Given the description of an element on the screen output the (x, y) to click on. 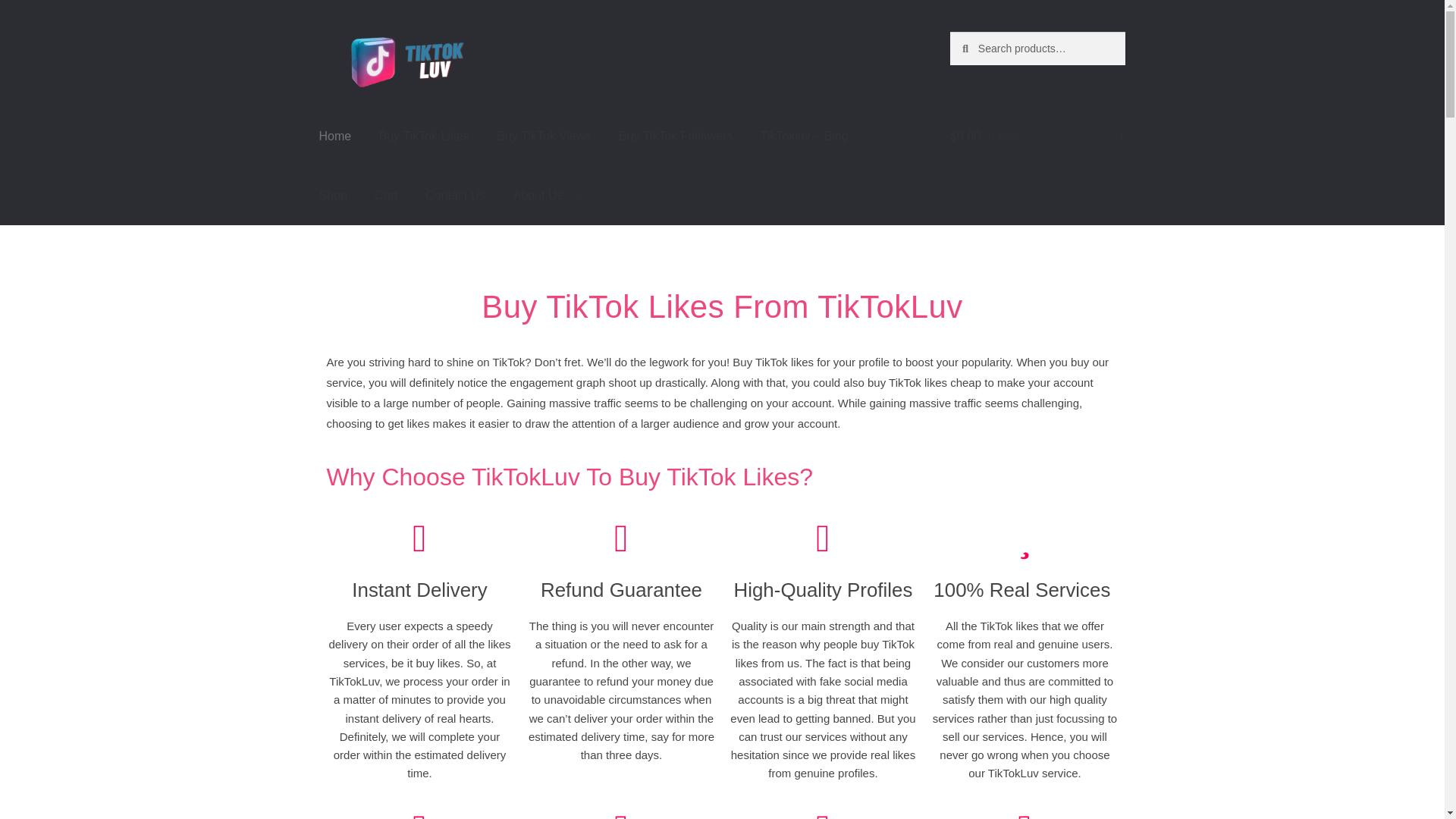
Buy TikTok Views (543, 136)
Buy TikTok Followers (675, 136)
Contact Us (455, 195)
View your shopping cart (1037, 136)
Home (335, 136)
About Us (546, 195)
Buy TikTok Likes (423, 136)
